Given the description of an element on the screen output the (x, y) to click on. 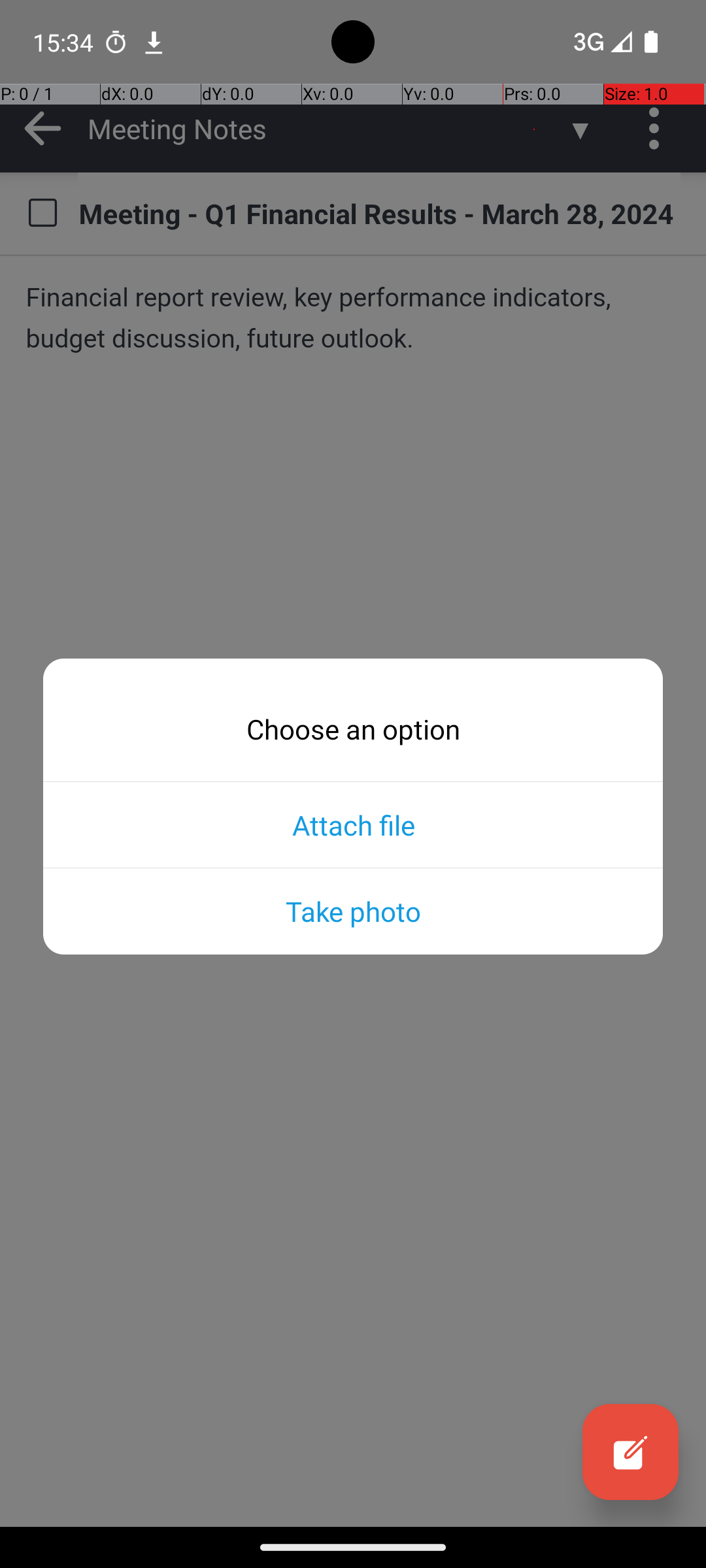
Choose an option Element type: android.widget.TextView (353, 728)
Board Meeting - Q1 Financial Results - March 28, 2024 Element type: android.widget.EditText (378, 213)
Attach file Element type: android.widget.TextView (352, 824)
Financial report review, key performance indicators, budget discussion, future outlook. Element type: android.widget.TextView (352, 317)
